Given the description of an element on the screen output the (x, y) to click on. 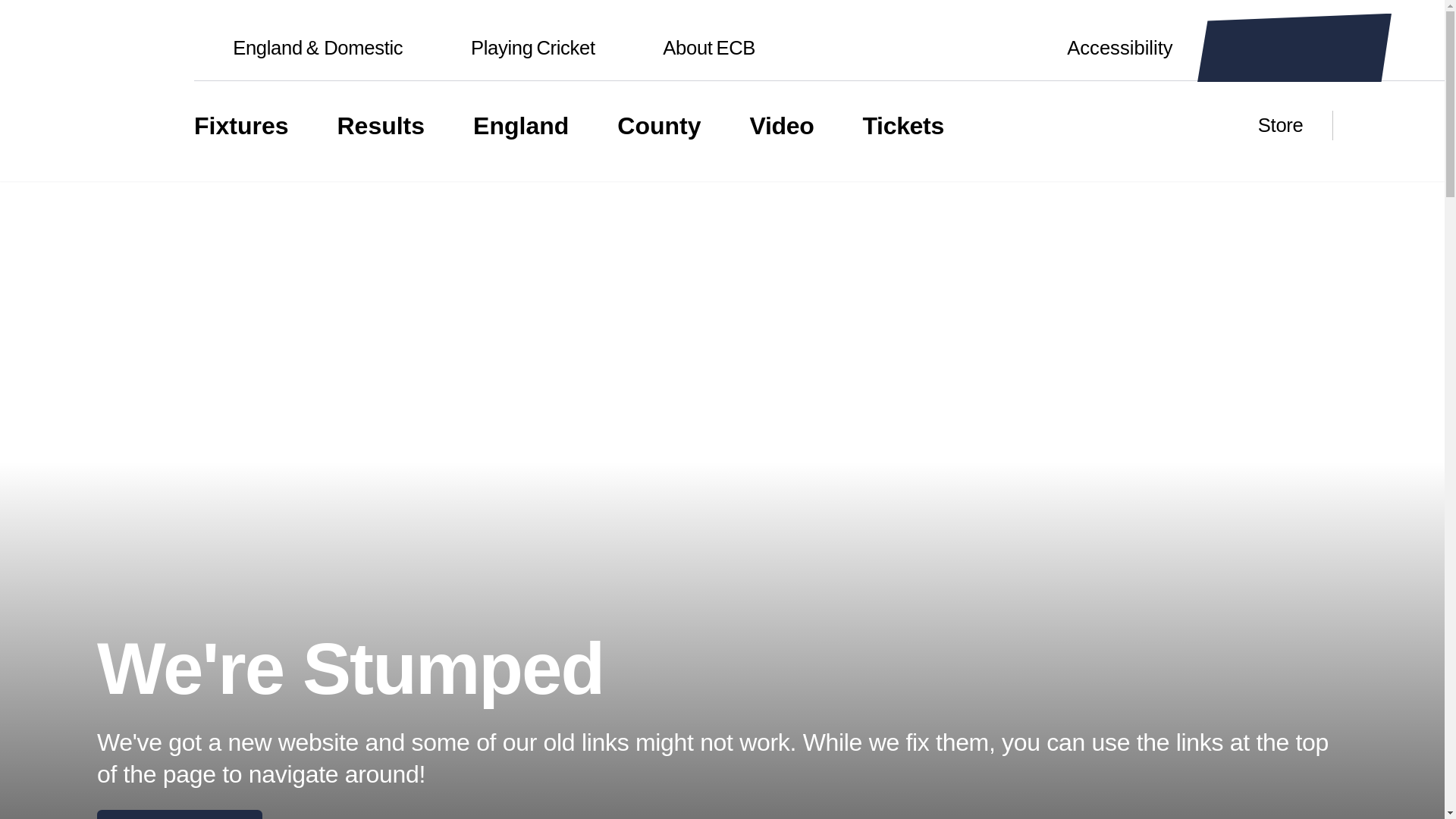
Results (380, 126)
We're Stumped (179, 814)
County (658, 126)
Fixtures (513, 47)
England (240, 126)
